Given the description of an element on the screen output the (x, y) to click on. 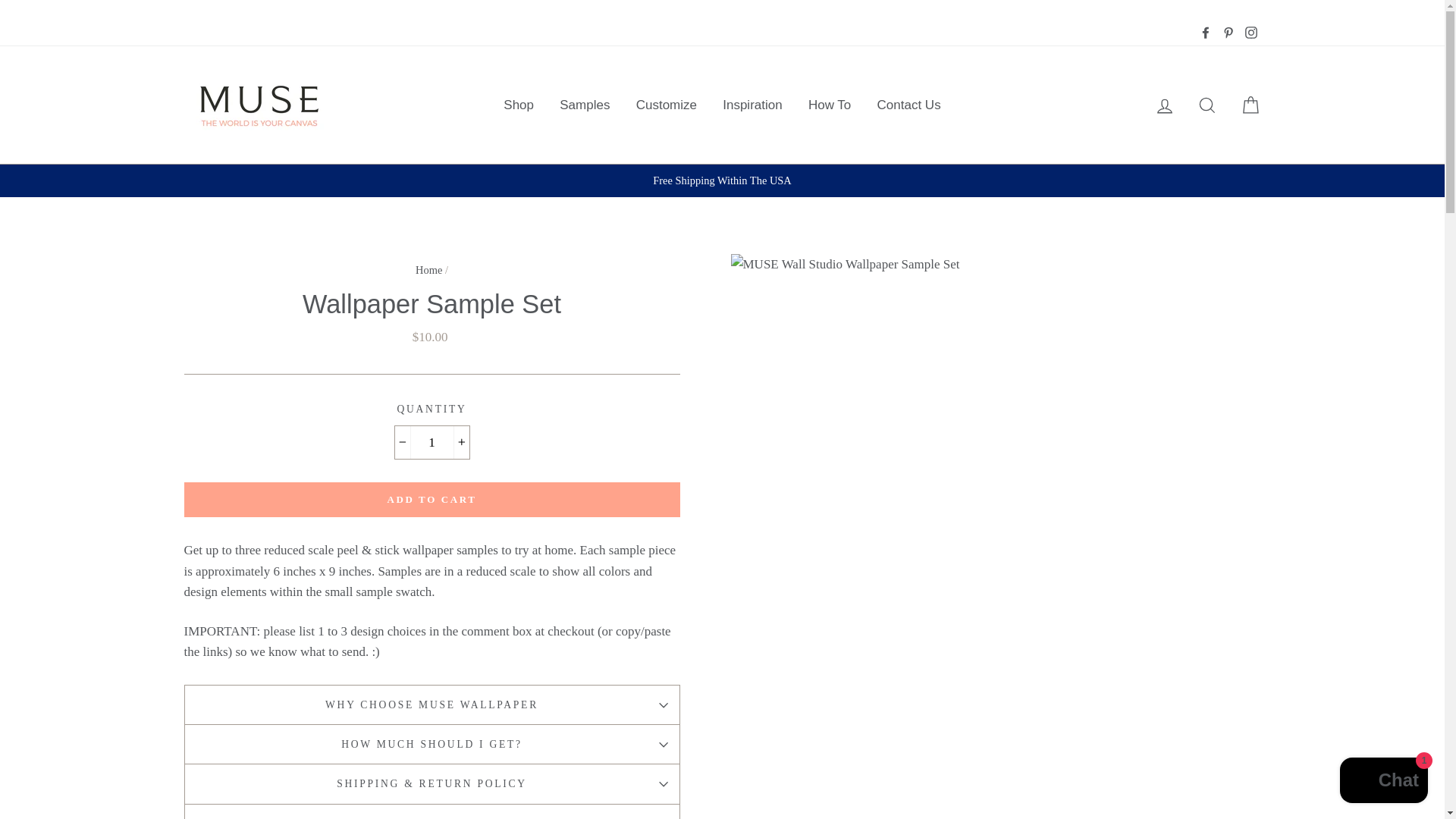
Shopify online store chat (1383, 781)
1 (431, 441)
Back to the frontpage (428, 269)
